Given the description of an element on the screen output the (x, y) to click on. 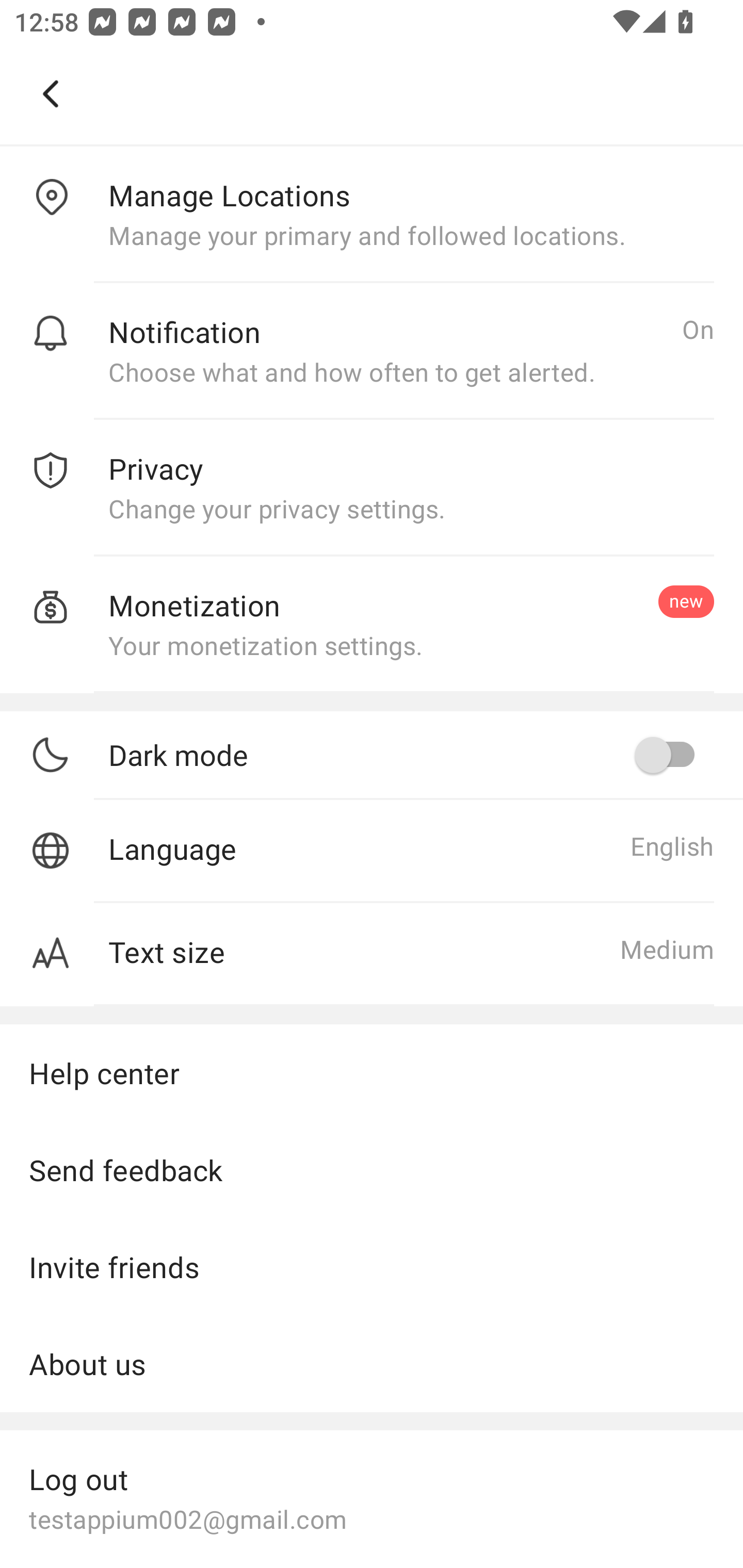
Navigate up (50, 93)
Privacy Change your privacy settings. (371, 488)
Monetization new Your monetization settings. (371, 624)
new (686, 600)
Dark mode (411, 754)
Language English (371, 851)
Text size Medium (371, 954)
Help center (371, 1072)
Send feedback (371, 1169)
Invite friends (371, 1266)
About us (371, 1363)
Log out testappium002@gmail.com (371, 1497)
